Given the description of an element on the screen output the (x, y) to click on. 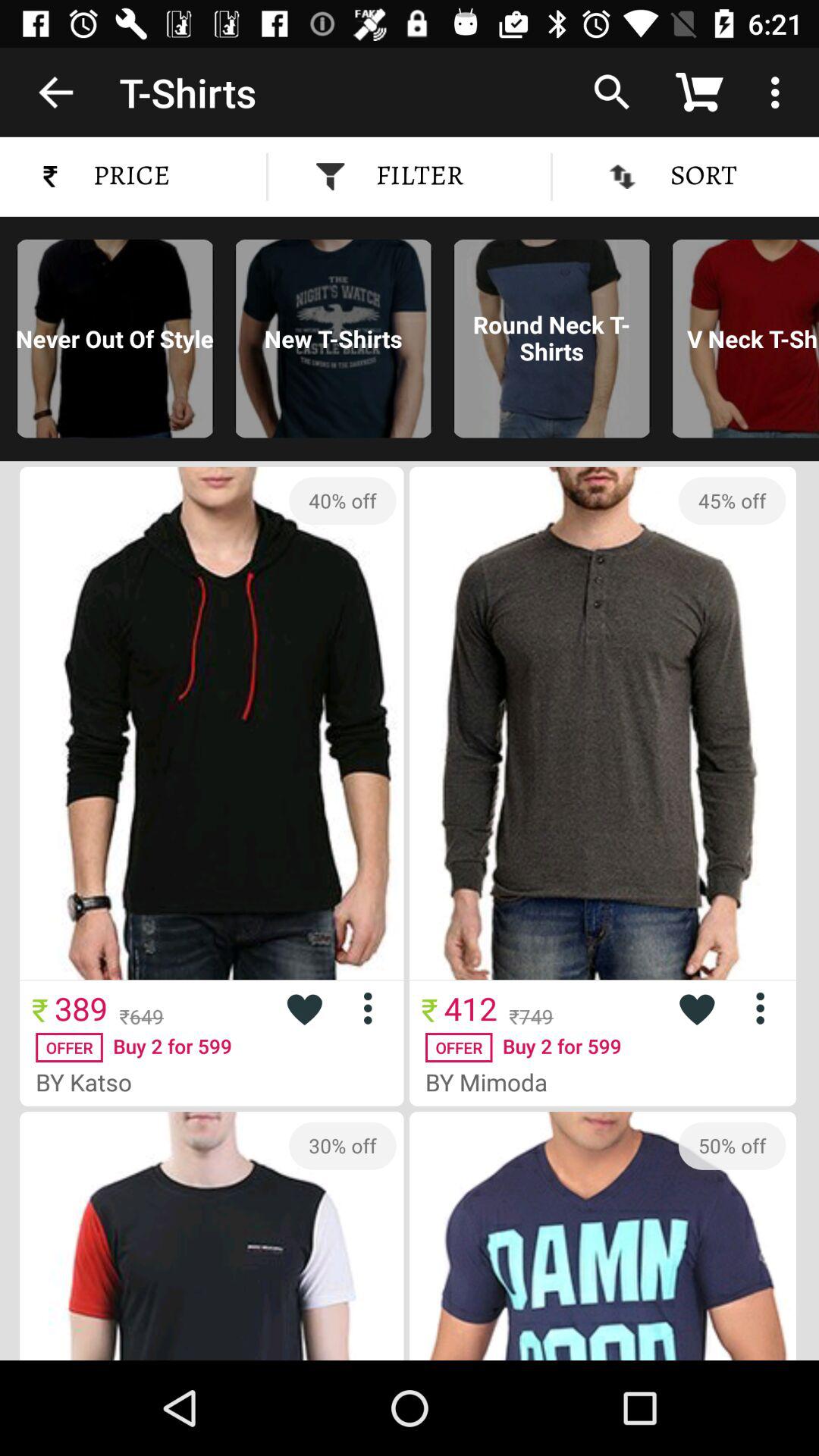
more options (373, 1008)
